Given the description of an element on the screen output the (x, y) to click on. 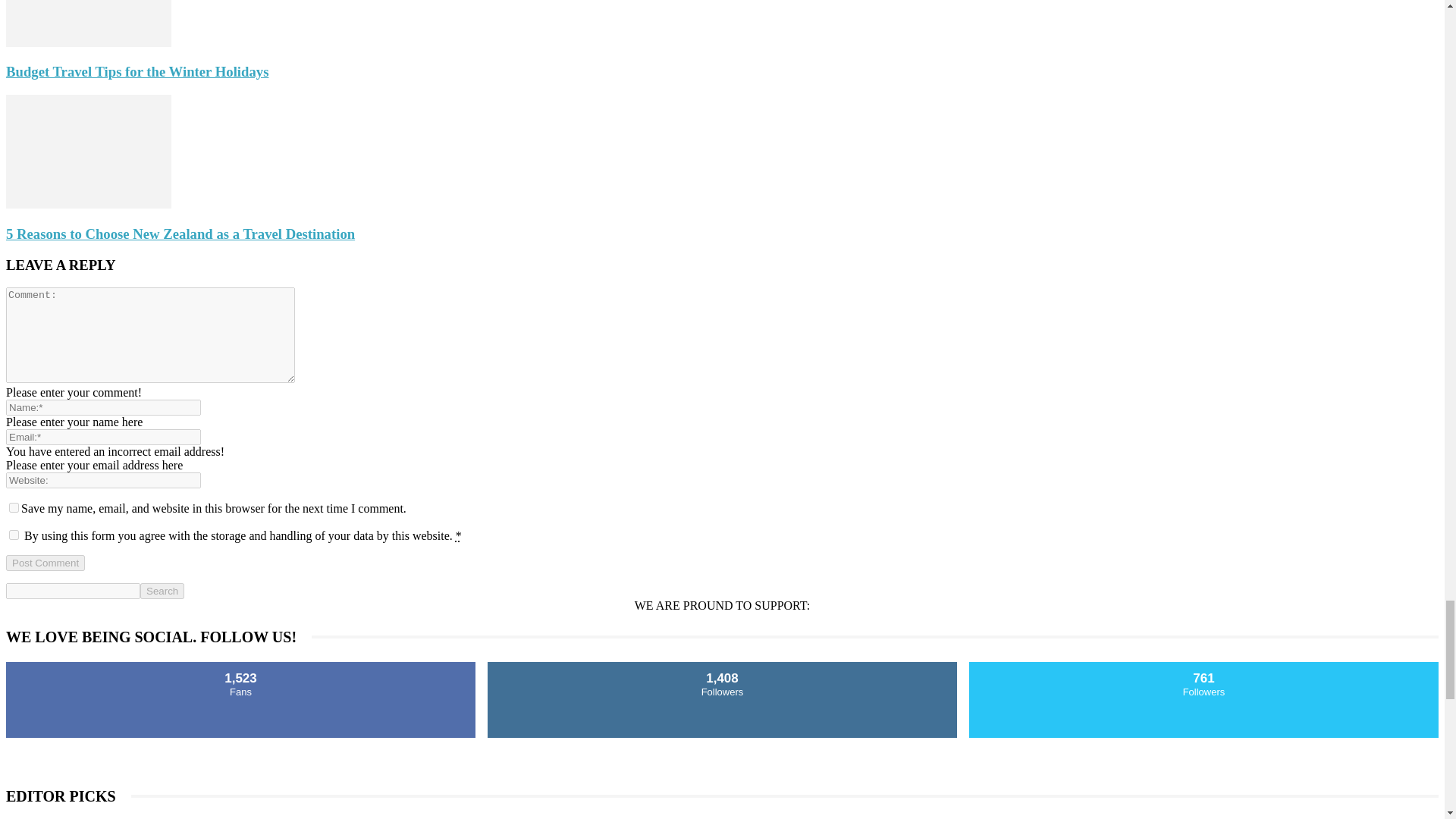
1 (13, 534)
Search (161, 590)
Post Comment (44, 562)
yes (13, 507)
